Given the description of an element on the screen output the (x, y) to click on. 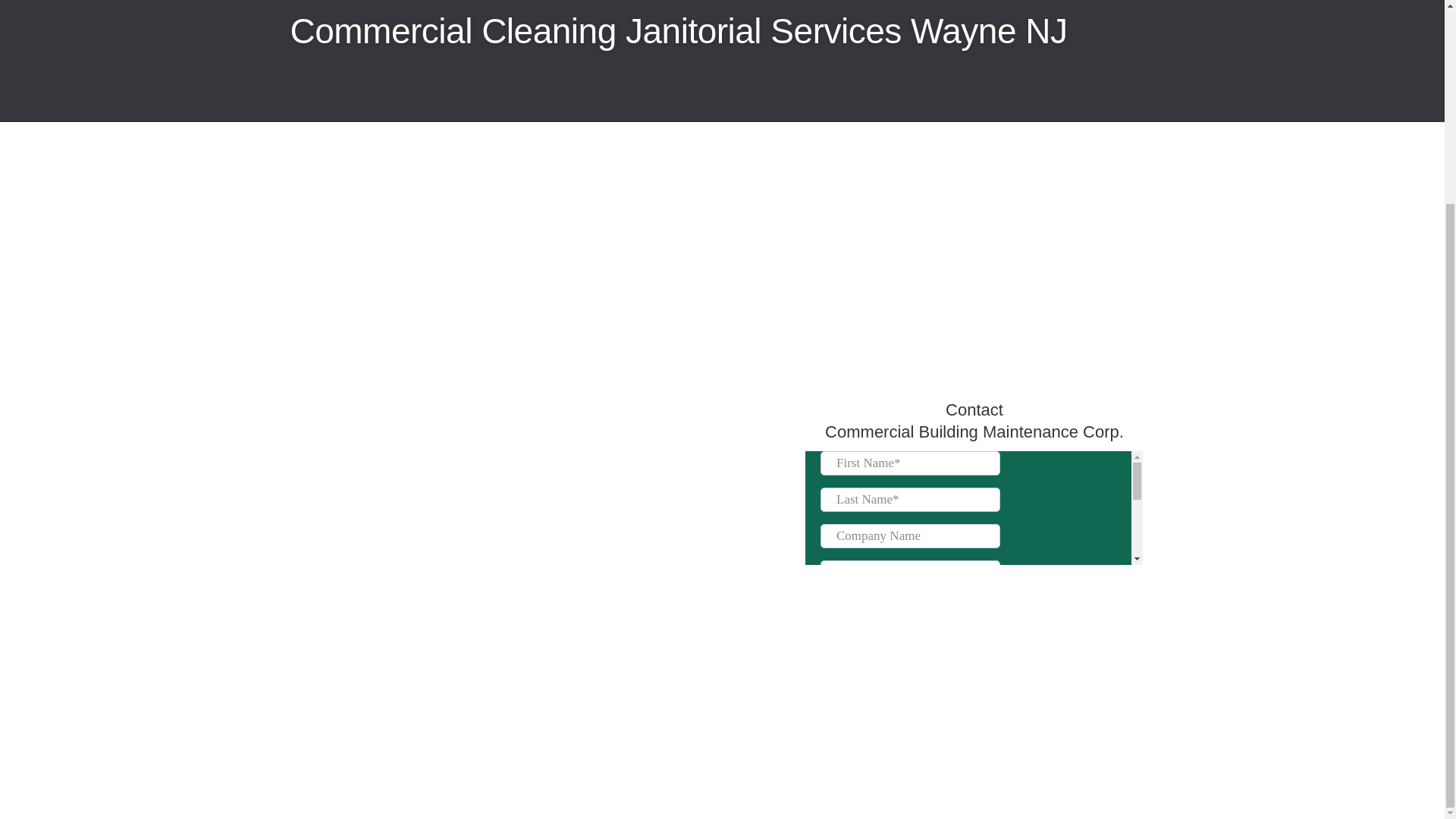
Contact Page Form (973, 508)
Search (1010, 147)
